Given the description of an element on the screen output the (x, y) to click on. 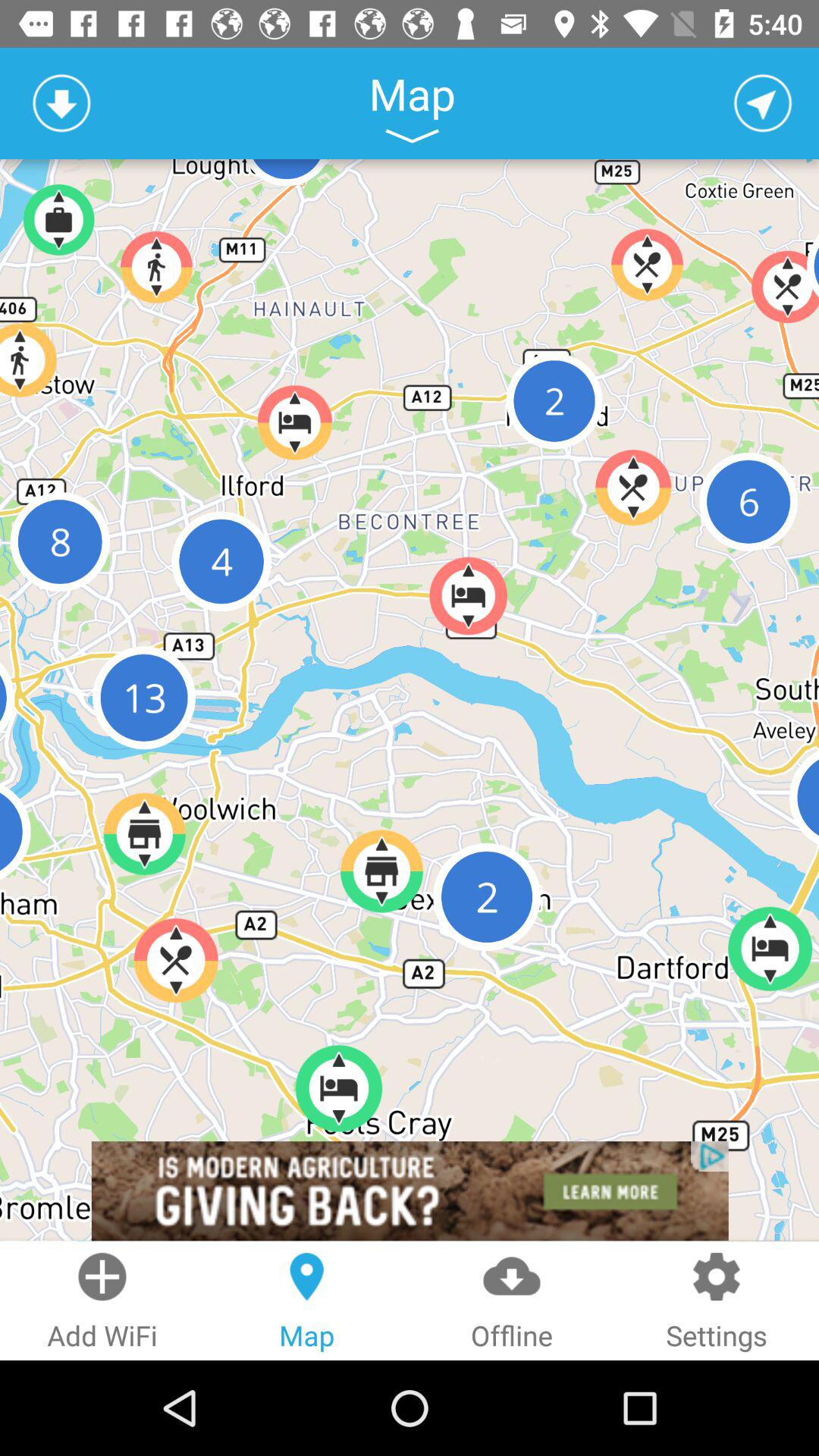
advertisement (409, 1191)
